Given the description of an element on the screen output the (x, y) to click on. 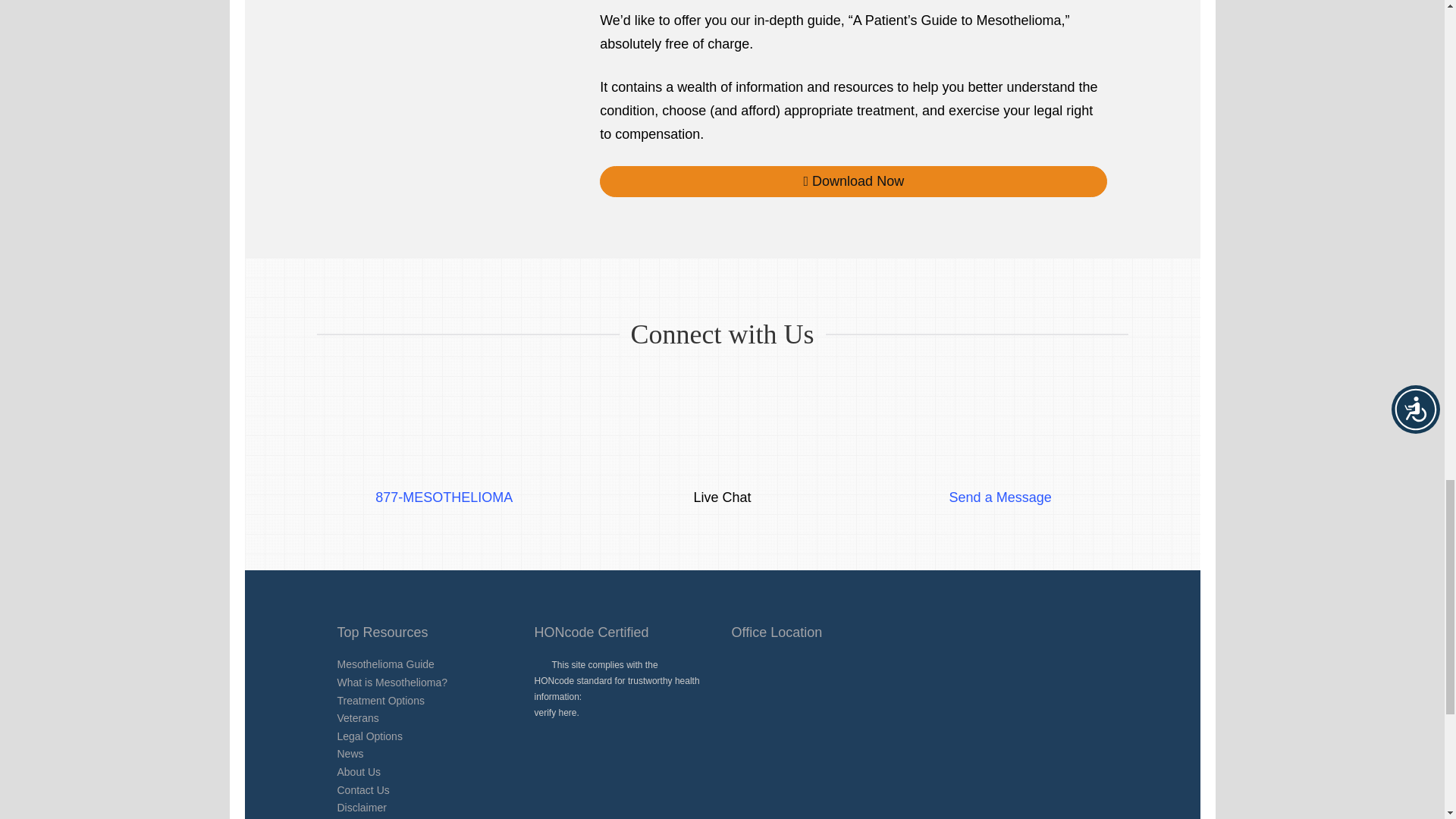
877-MESOTHELIOMA (443, 478)
Legal Options (368, 736)
What is Mesothelioma? (391, 682)
Download Now (852, 181)
Live Chat (721, 478)
Mesothelioma Guide (384, 664)
Disclaimer (360, 807)
Contact Us (362, 789)
Send a Message (1000, 478)
Treatment Options (379, 700)
Veterans (357, 717)
News (349, 753)
About Us (358, 771)
